Given the description of an element on the screen output the (x, y) to click on. 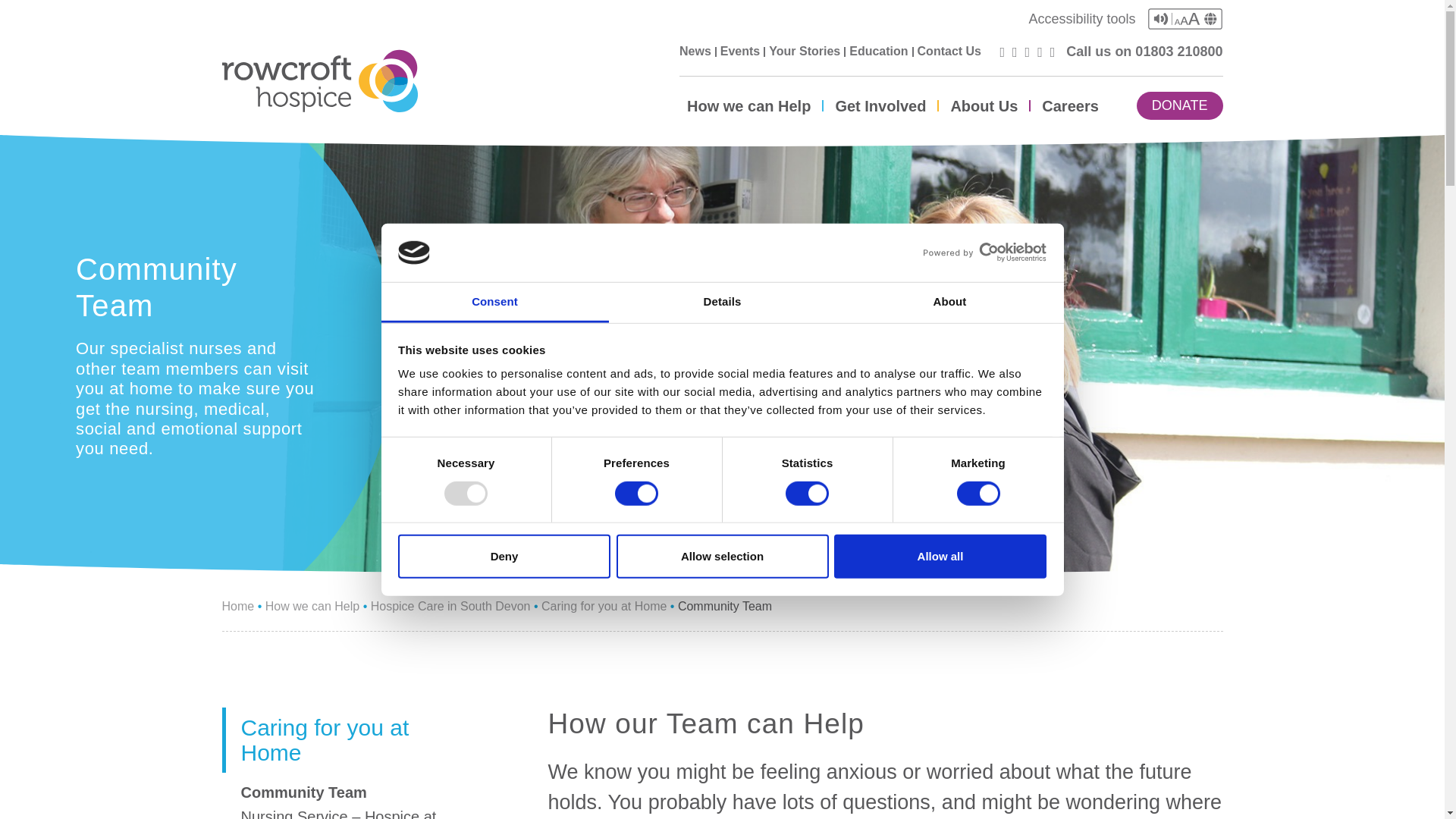
About (948, 302)
Details (721, 302)
Consent (494, 302)
